Given the description of an element on the screen output the (x, y) to click on. 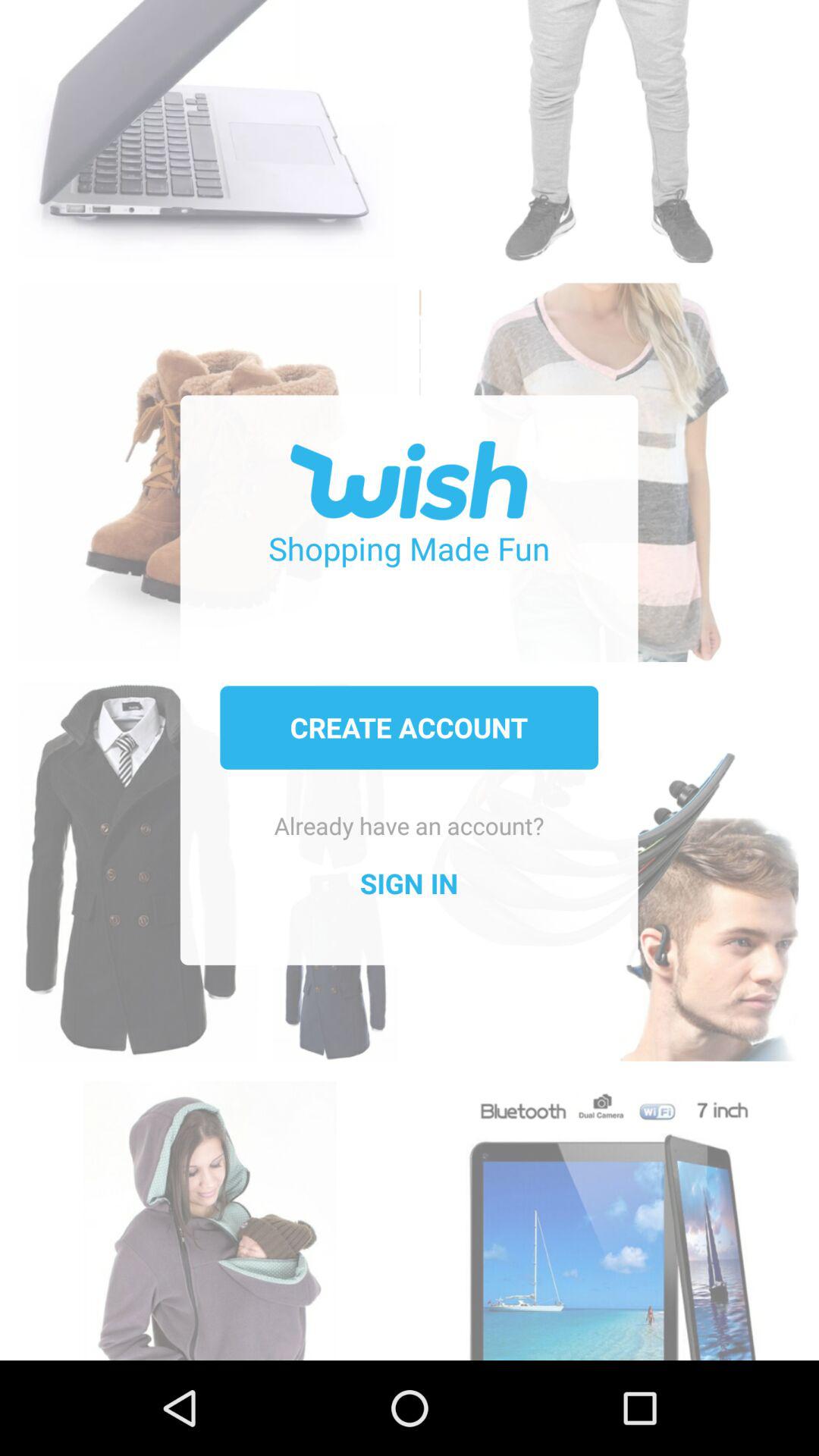
press sign in item (409, 883)
